Given the description of an element on the screen output the (x, y) to click on. 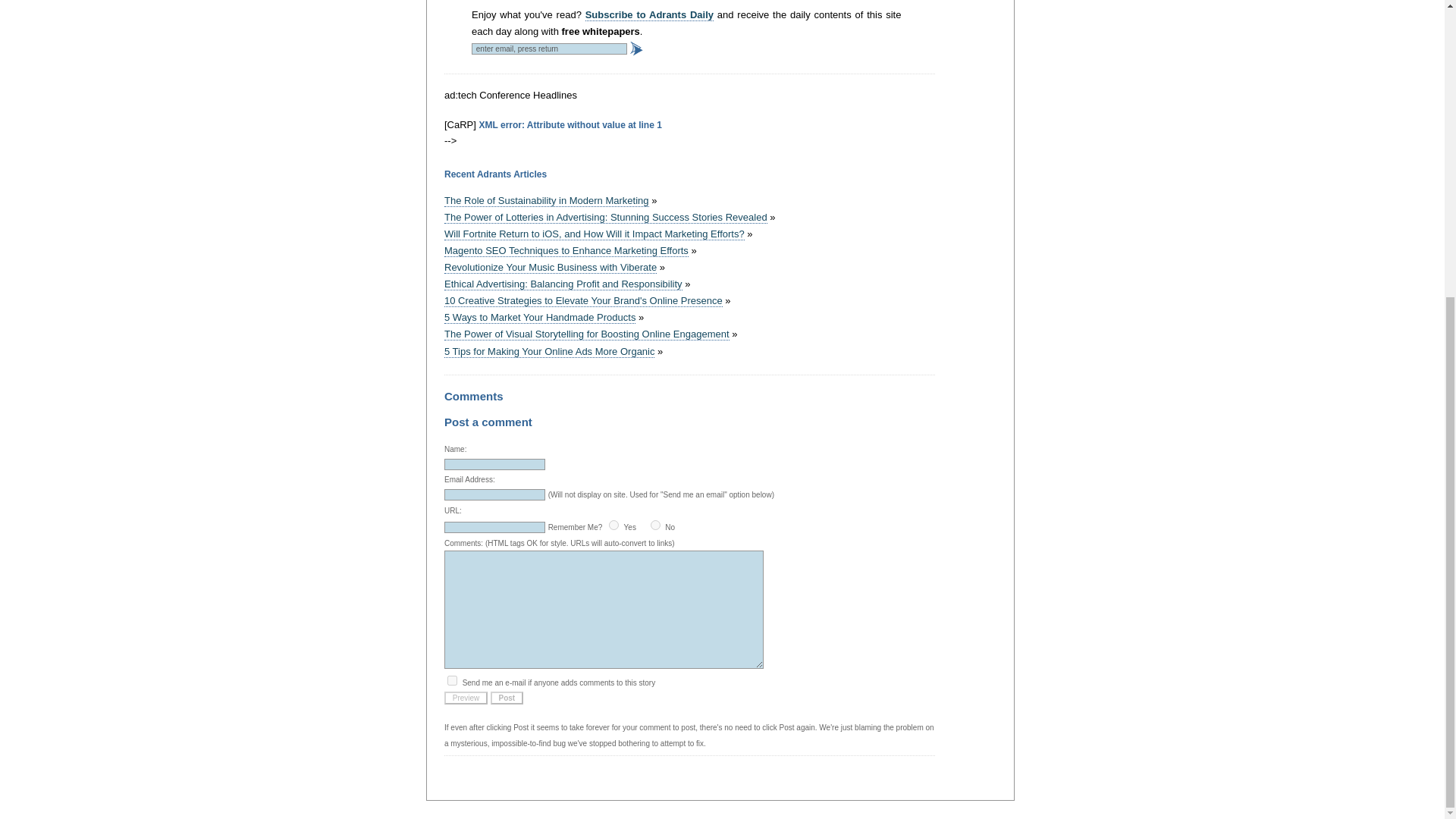
Subscribe (636, 48)
XML error: Attribute without value at line 1 (570, 124)
1 (451, 680)
The Role of Sustainability in Modern Marketing (546, 200)
Recent Adrants Articles (495, 173)
